Given the description of an element on the screen output the (x, y) to click on. 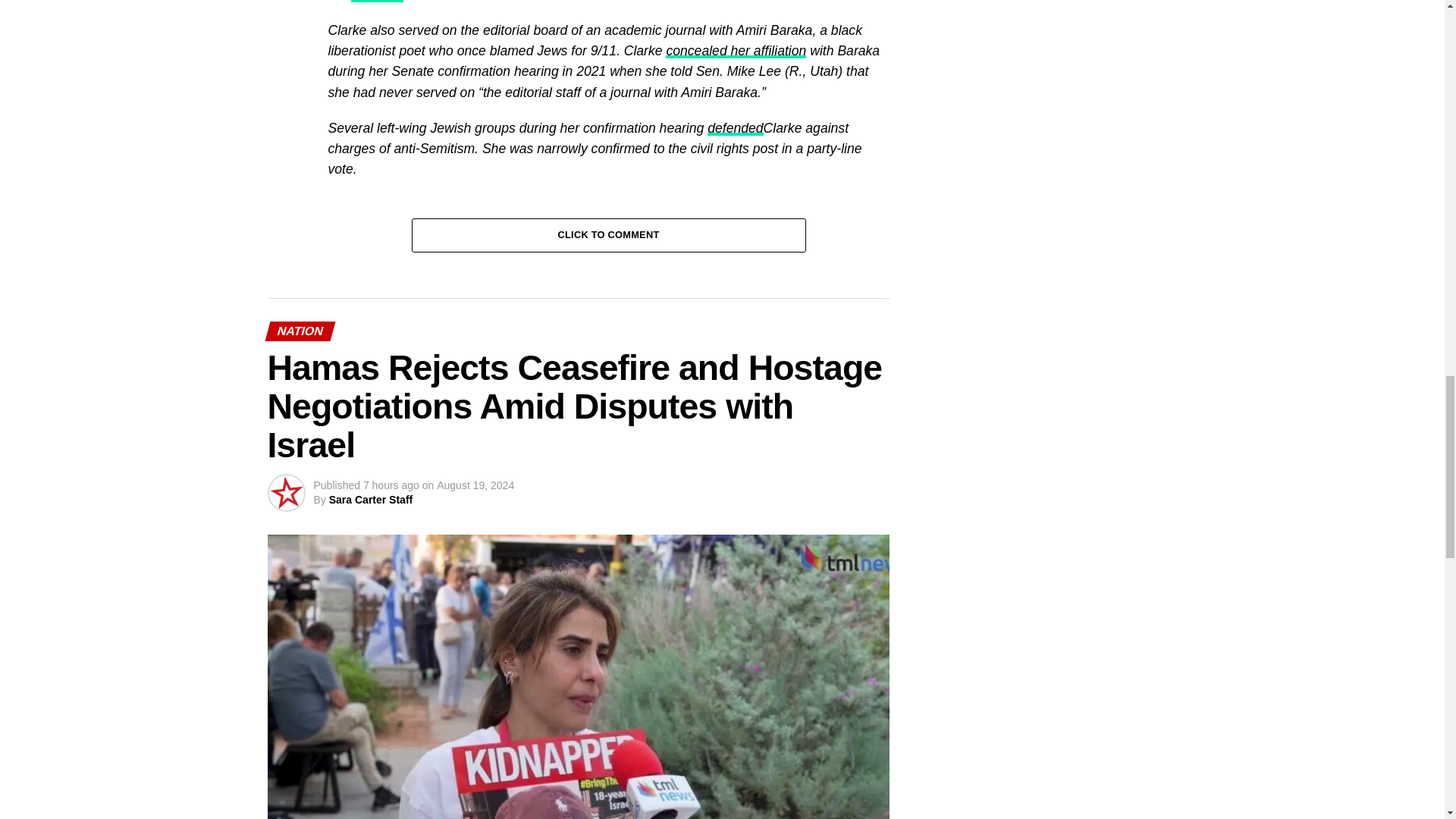
concealed her affiliation (735, 50)
Beacon (376, 1)
Posts by Sara Carter Staff (371, 499)
defended (734, 127)
